Given the description of an element on the screen output the (x, y) to click on. 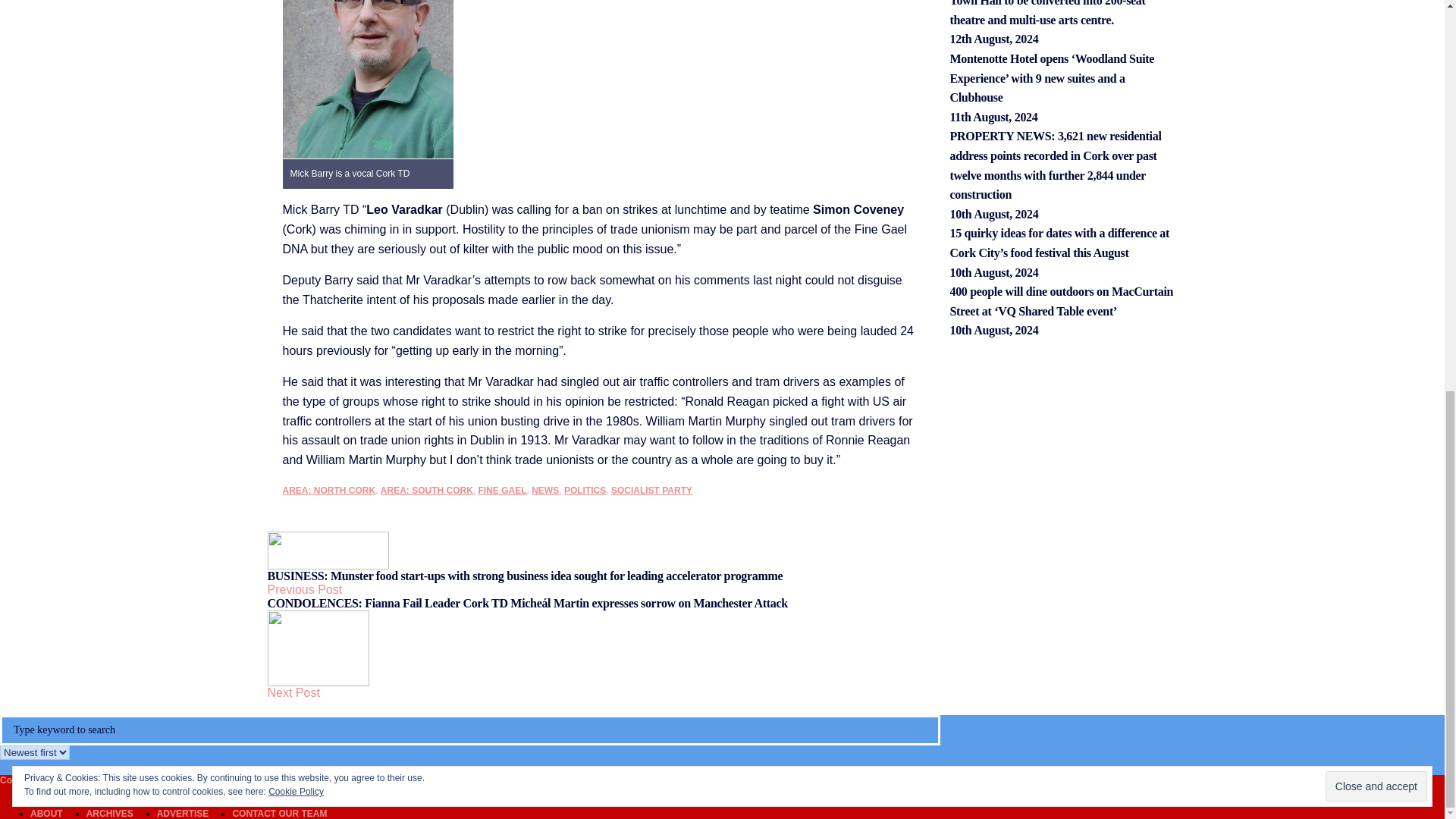
Type keyword to search (470, 729)
Close and accept (1375, 38)
Type keyword to search (470, 729)
